Given the description of an element on the screen output the (x, y) to click on. 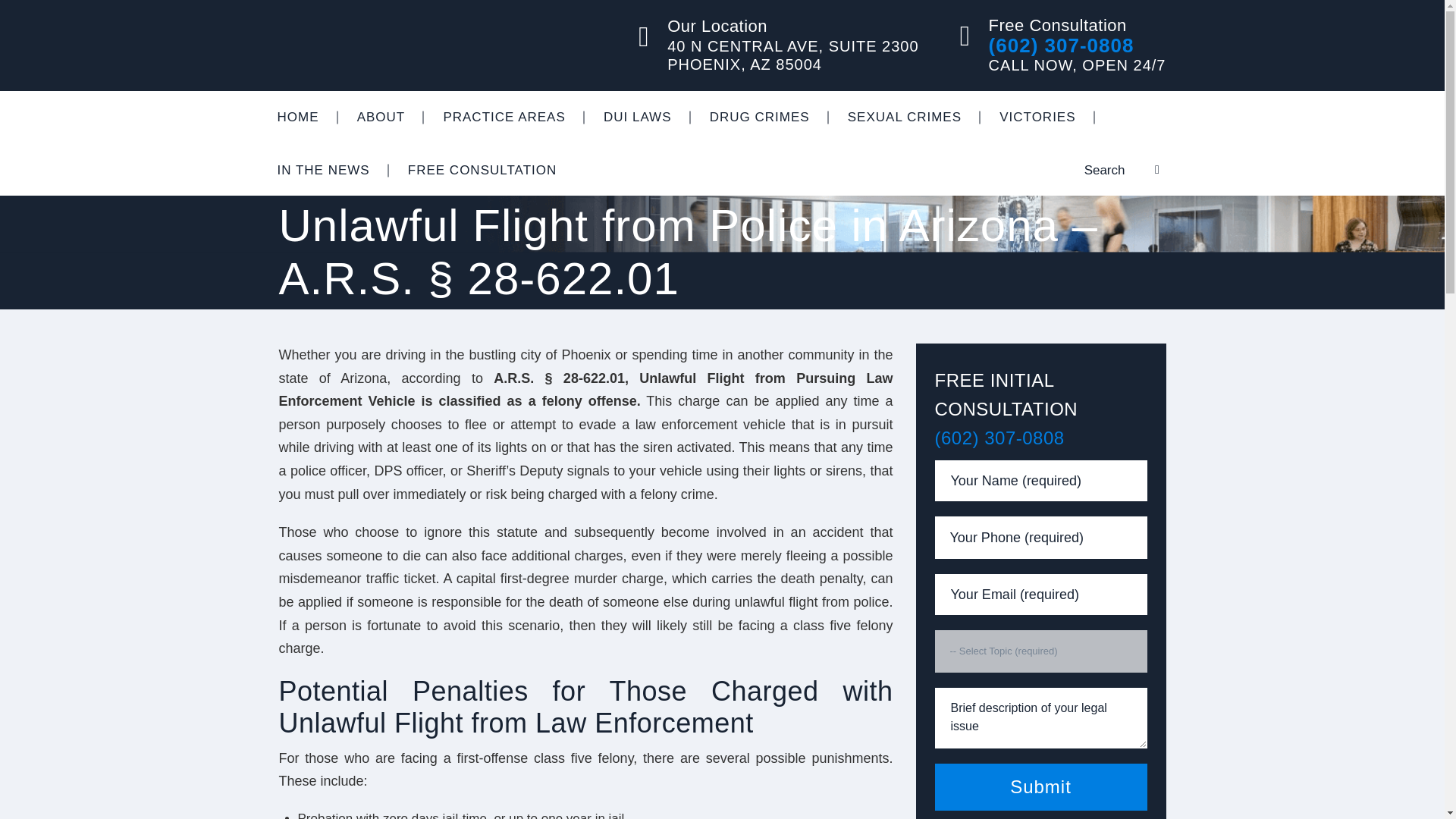
FREE CONSULTATION (481, 170)
DRUG CRIMES (760, 117)
IN THE NEWS (323, 170)
Submit (1040, 786)
ABOUT (381, 117)
HOME (297, 117)
DM Cantor (385, 45)
DUI LAWS (637, 117)
VICTORIES (1037, 117)
Submit (1040, 786)
SEXUAL CRIMES (903, 117)
PRACTICE AREAS (503, 117)
